Given the description of an element on the screen output the (x, y) to click on. 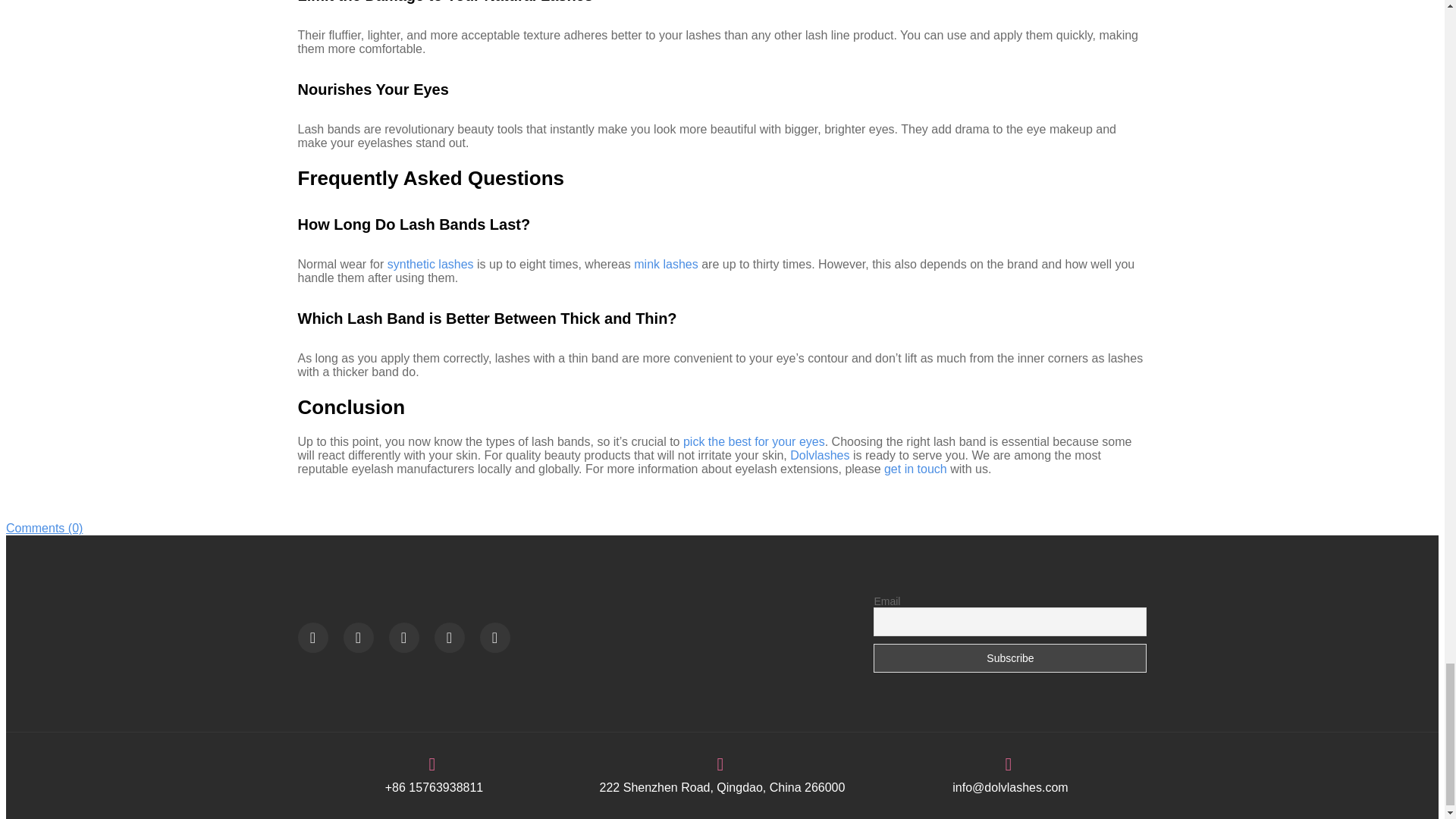
Subscribe (1010, 657)
